Given the description of an element on the screen output the (x, y) to click on. 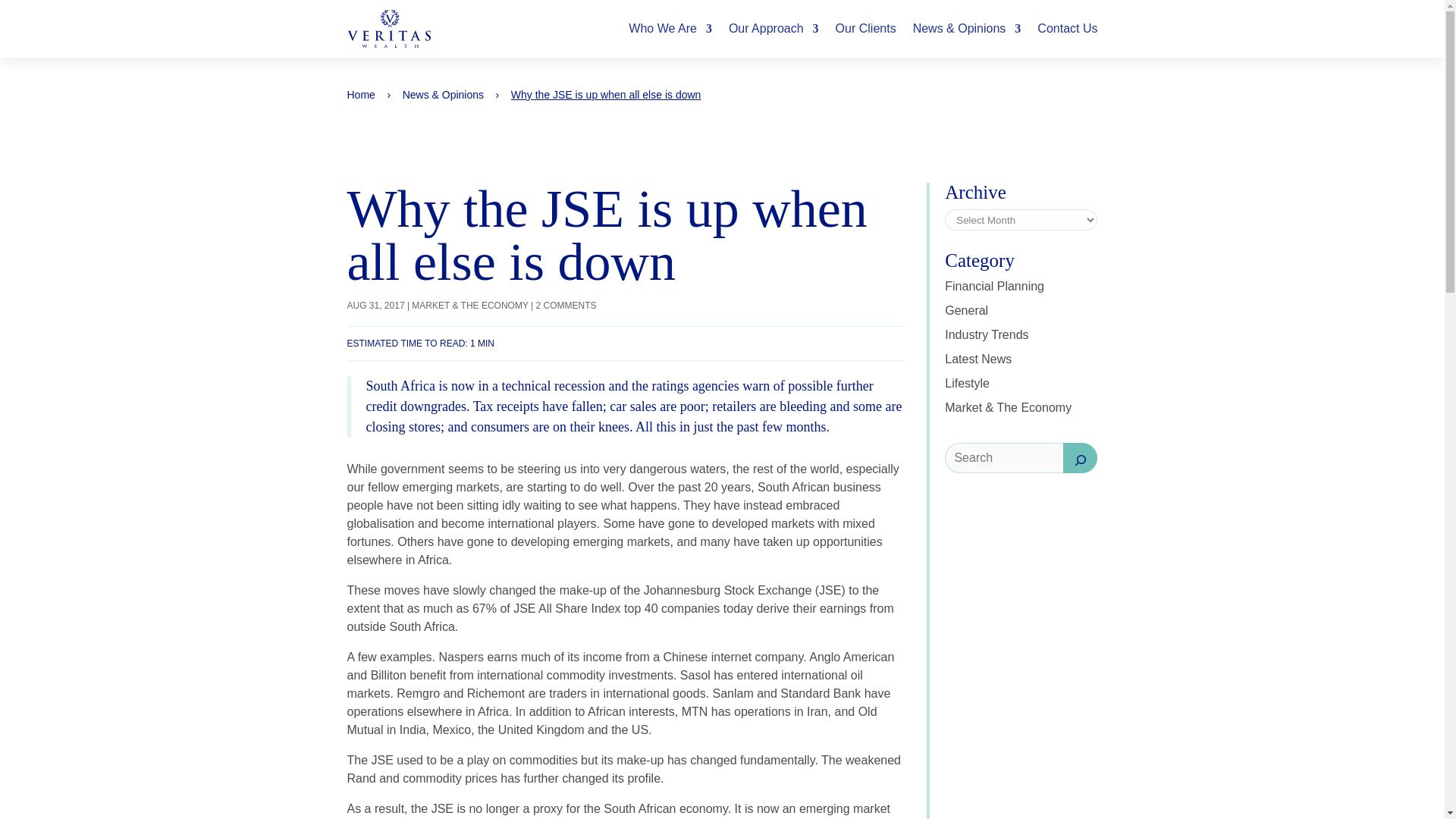
Financial Planning (993, 286)
Our Approach (773, 28)
Who We Are (669, 28)
Industry Trends (985, 334)
2 COMMENTS (565, 305)
General (966, 309)
Contact Us (1066, 28)
Latest News (977, 358)
Home (361, 94)
Our Clients (865, 28)
